Given the description of an element on the screen output the (x, y) to click on. 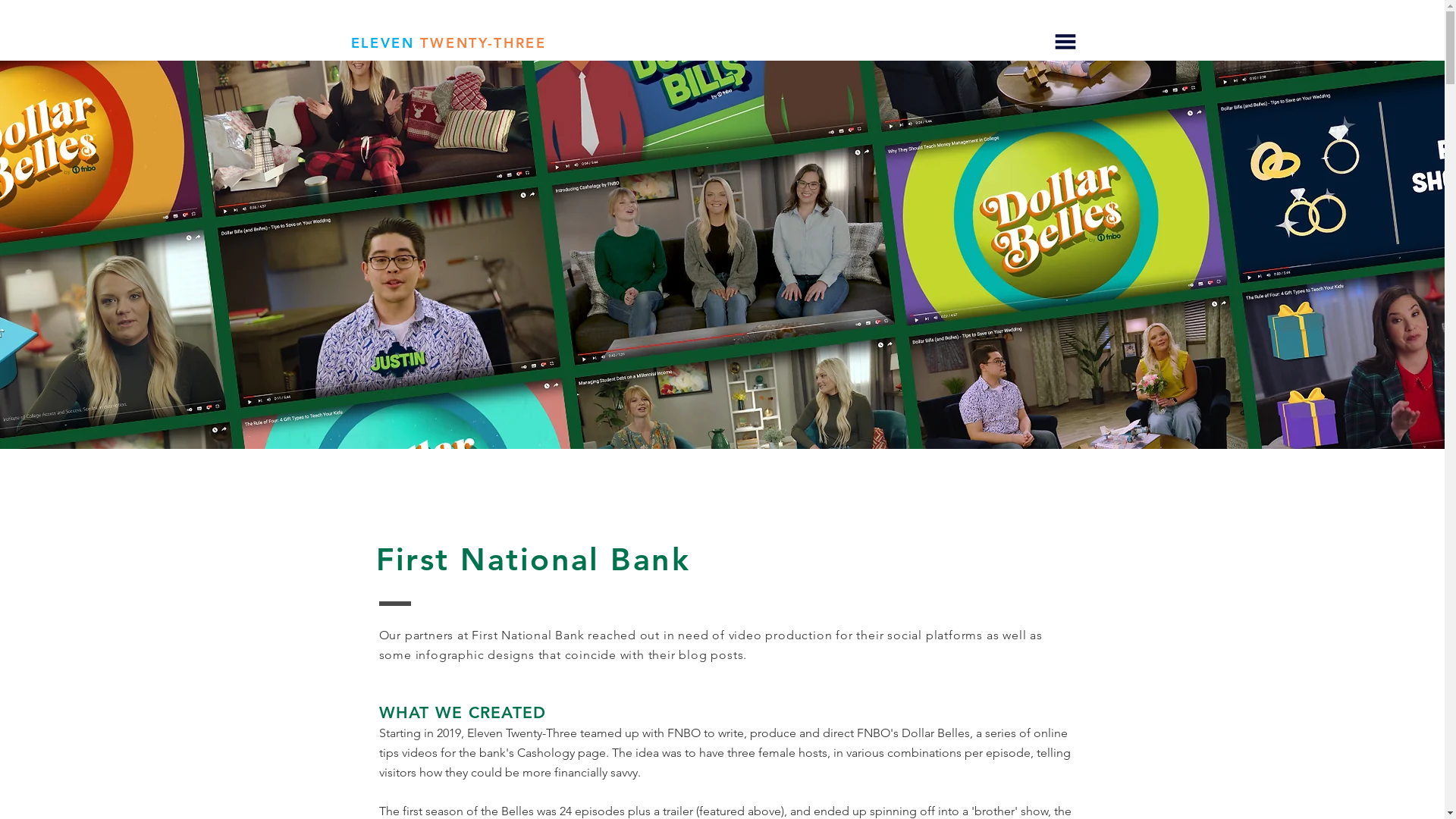
ELEVEN TWENTY-THREE Element type: text (448, 42)
